Given the description of an element on the screen output the (x, y) to click on. 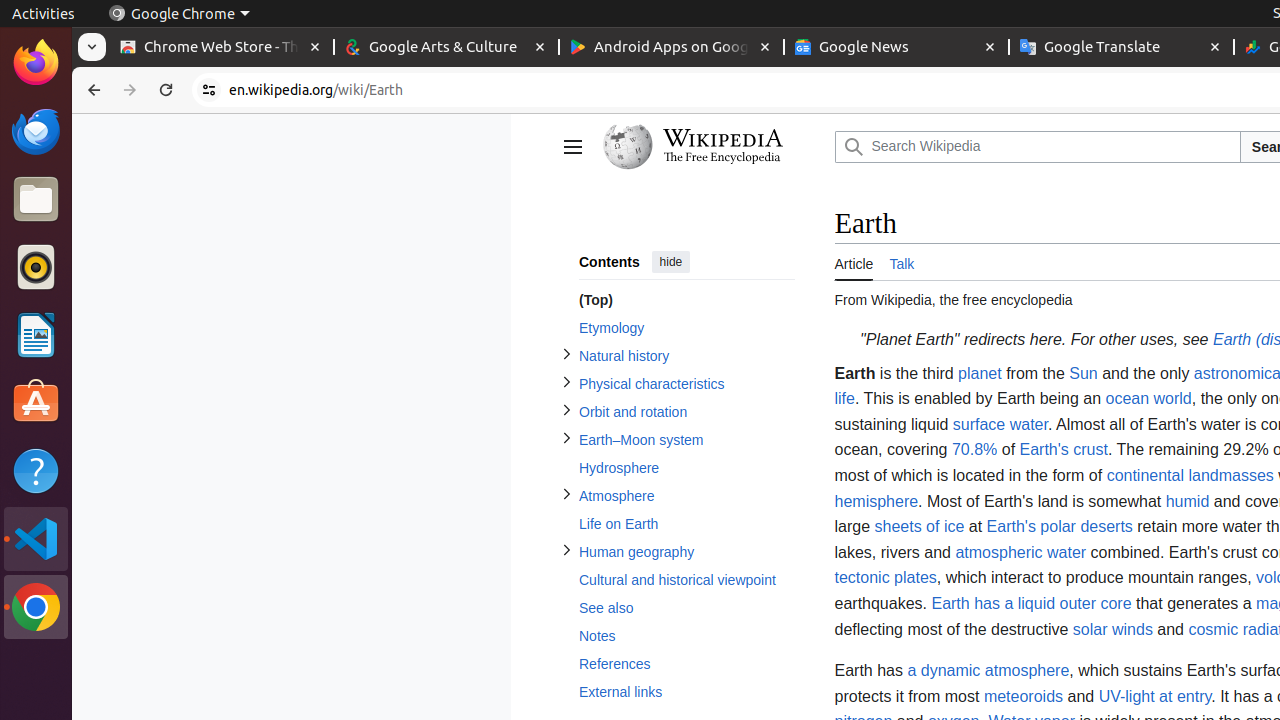
LibreOffice Writer Element type: push-button (36, 334)
Files Element type: push-button (36, 199)
landmasses Element type: link (1231, 475)
Back Element type: push-button (91, 90)
Toggle Orbit and rotation subsection Element type: push-button (566, 410)
